Given the description of an element on the screen output the (x, y) to click on. 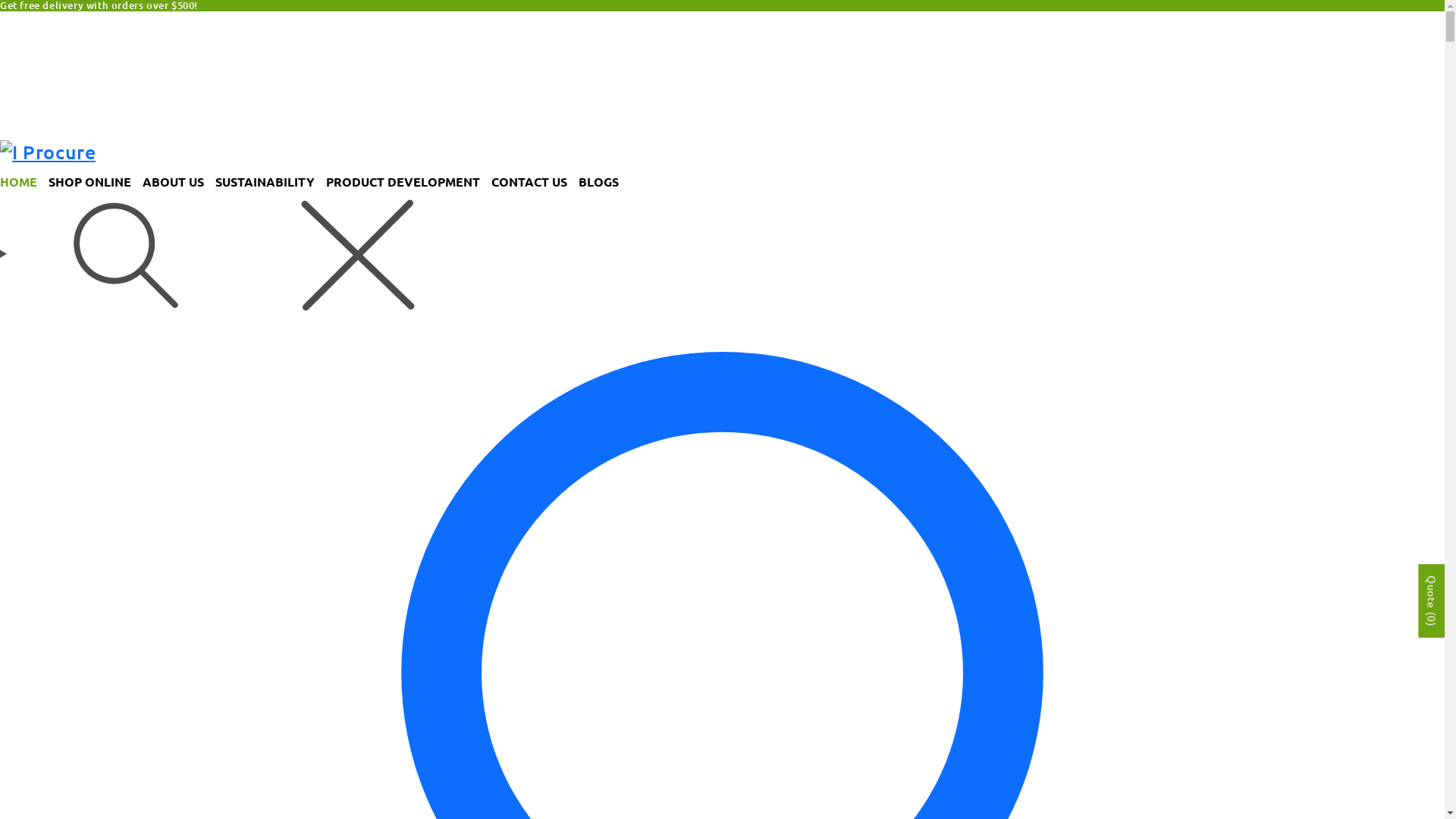
SHOP ONLINE Element type: text (95, 181)
BLOGS Element type: text (604, 181)
ABOUT US Element type: text (178, 181)
HOME Element type: text (24, 181)
PRODUCT DEVELOPMENT Element type: text (408, 181)
SUSTAINABILITY Element type: text (270, 181)
CONTACT US Element type: text (534, 181)
